Given the description of an element on the screen output the (x, y) to click on. 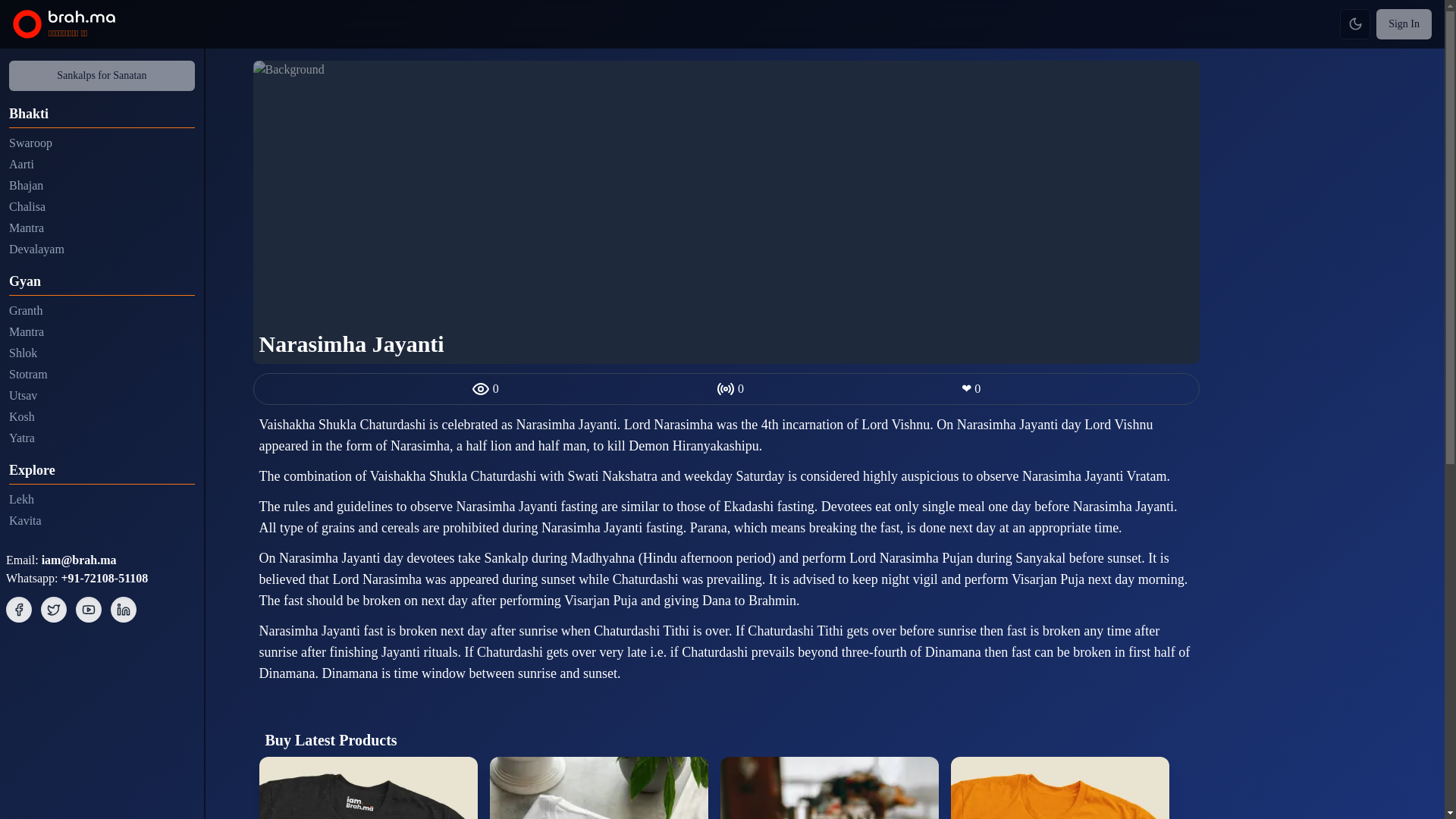
Lekh (101, 499)
Kavita (101, 520)
Devalayam (101, 249)
Stotram (101, 374)
Mantra (101, 228)
Shlok (101, 352)
Swaroop (101, 143)
Sign In (1403, 24)
Yatra (101, 438)
Granth (101, 311)
